Given the description of an element on the screen output the (x, y) to click on. 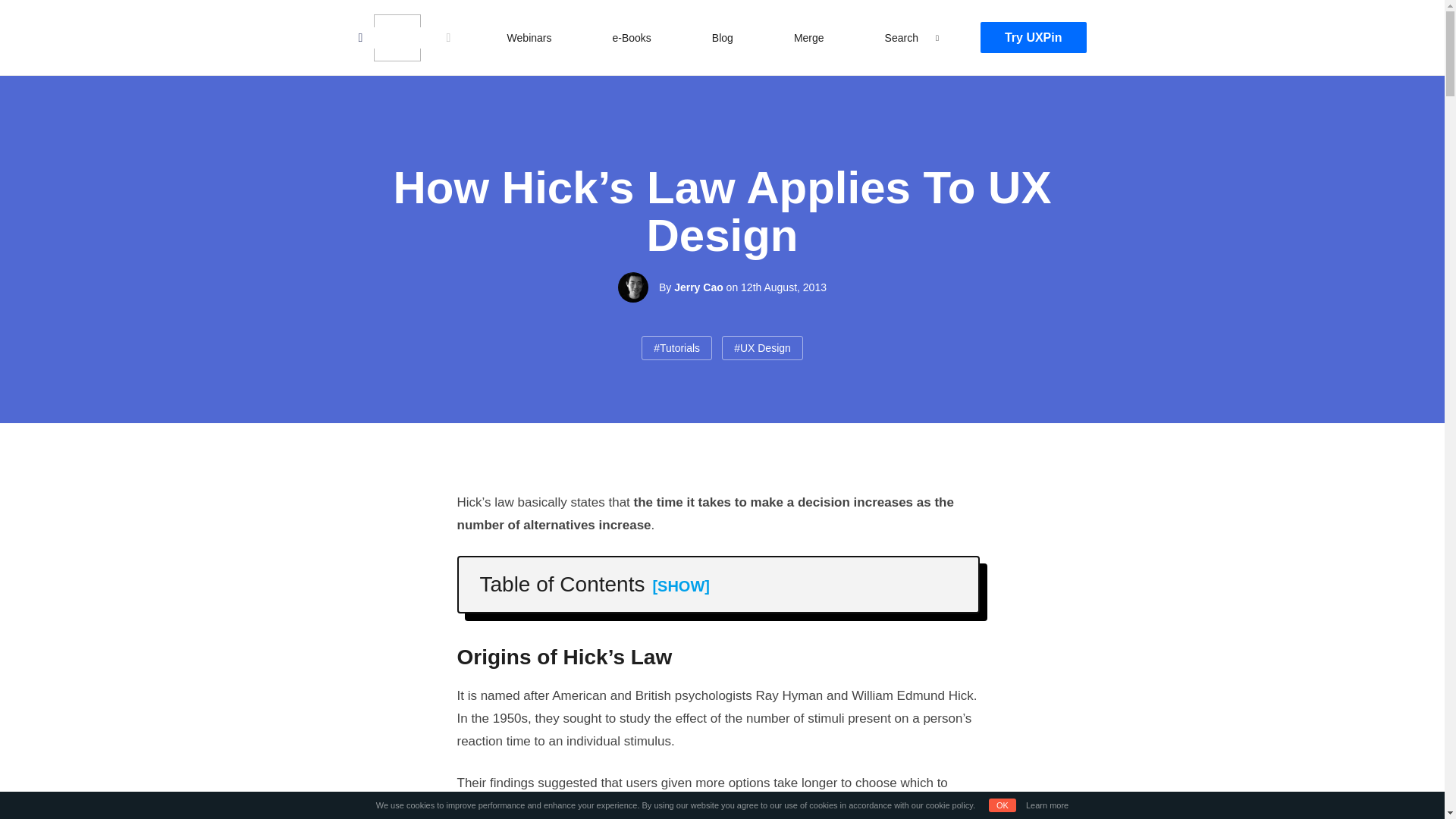
Search (27, 13)
by UXPin (447, 37)
Search (901, 37)
Merge (808, 37)
Webinars (529, 37)
Studio by UXPin (396, 37)
Blog (722, 37)
Try UXPin (1032, 37)
Try UXPin! (447, 37)
Studio by UXPin (396, 37)
e-Books (631, 37)
